Given the description of an element on the screen output the (x, y) to click on. 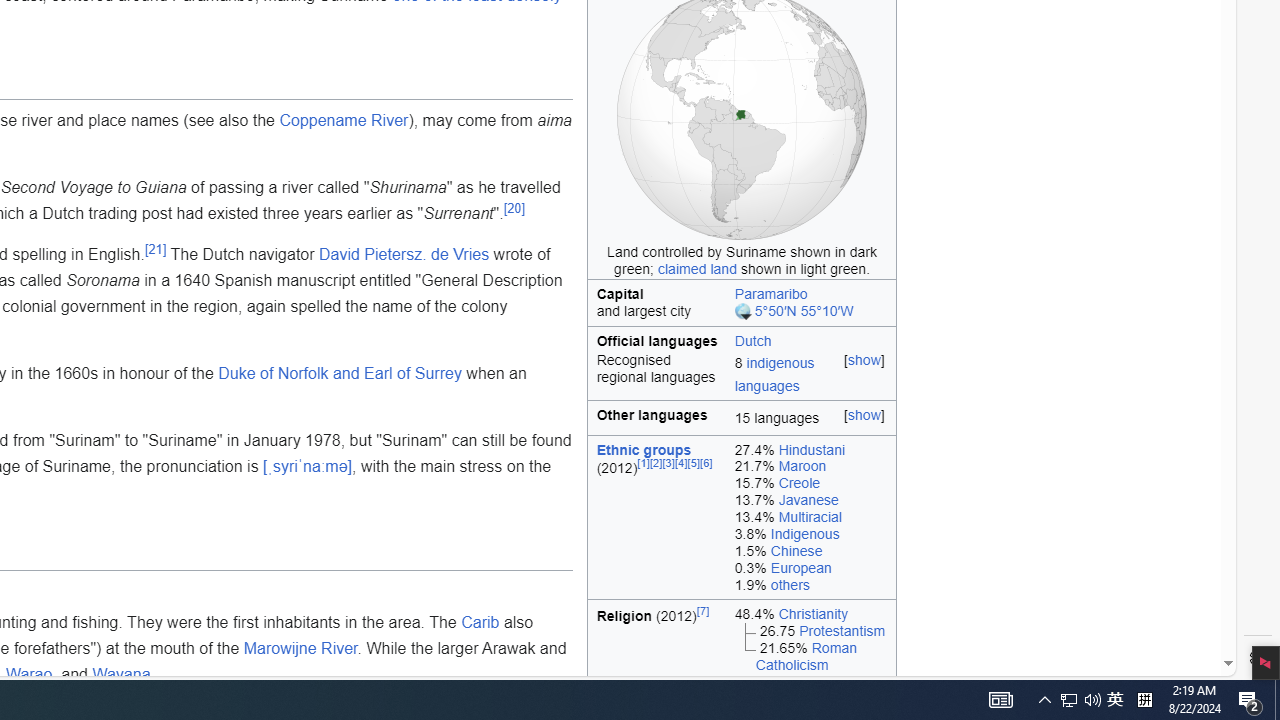
Paramaribo (770, 293)
0.3% European (810, 567)
Coppename River (344, 119)
